Given the description of an element on the screen output the (x, y) to click on. 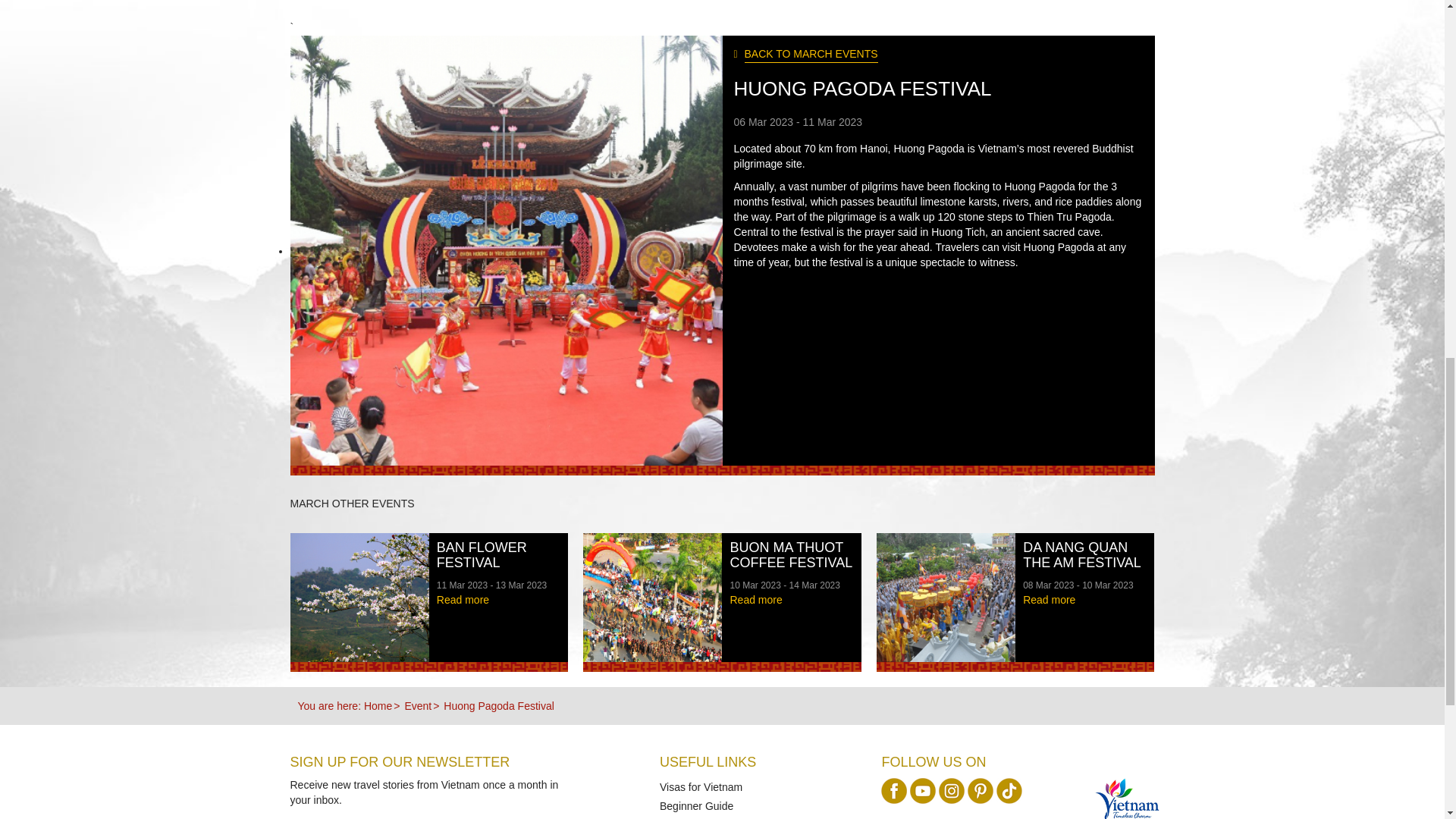
Youtube (923, 790)
Pinterest (980, 790)
TikTok (1008, 790)
Facebook (893, 790)
Beginner Guide (696, 806)
Instagram (951, 790)
Visas for Vietnam (700, 787)
